Given the description of an element on the screen output the (x, y) to click on. 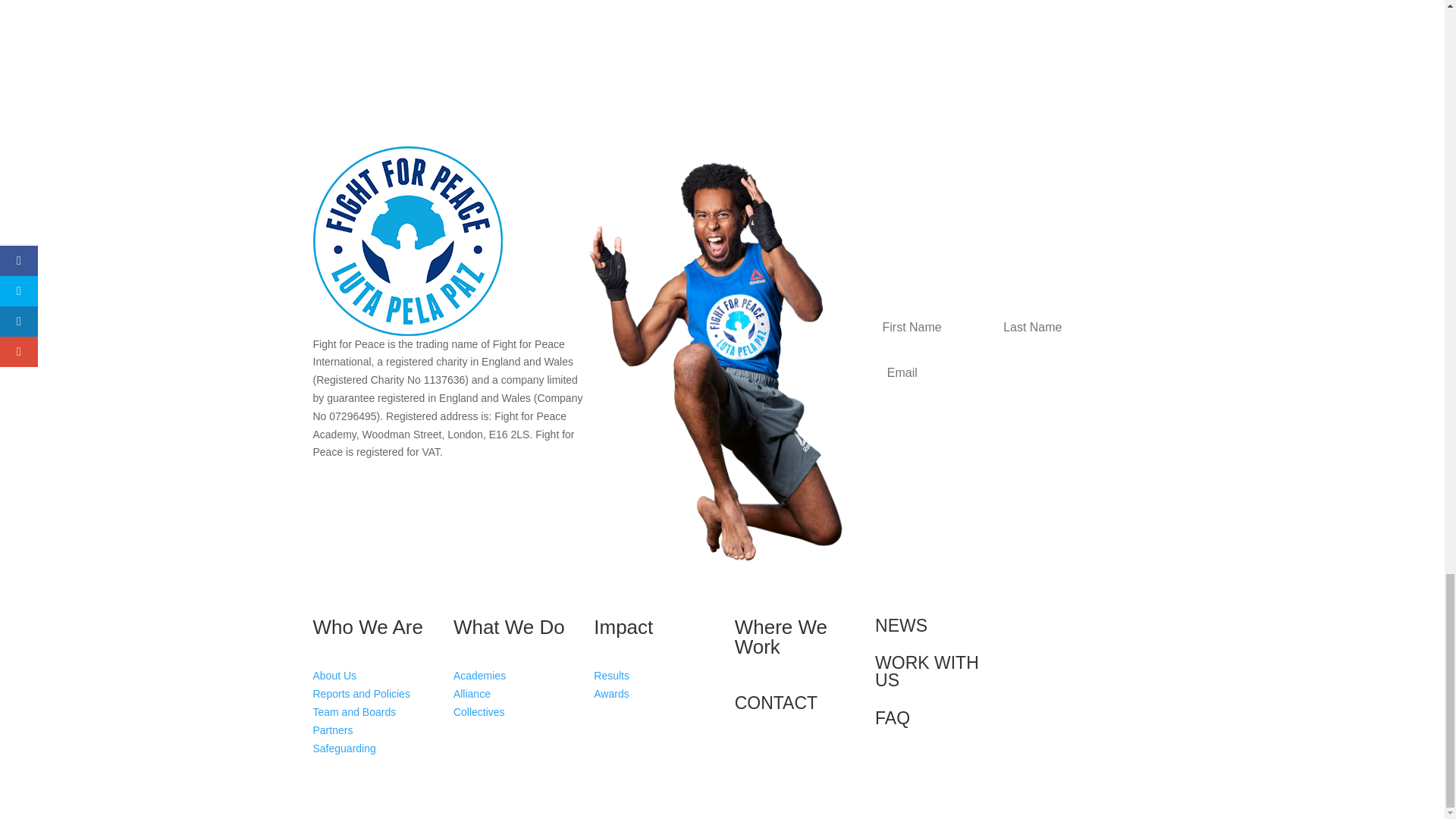
About Us (334, 675)
Team and Boards (354, 711)
Partners (332, 729)
Follow on X (1058, 629)
Collectives (478, 711)
Alliance (471, 693)
Academies (478, 675)
Privacy Policy (1059, 281)
WORK WITH US (926, 671)
faq (892, 718)
